Given the description of an element on the screen output the (x, y) to click on. 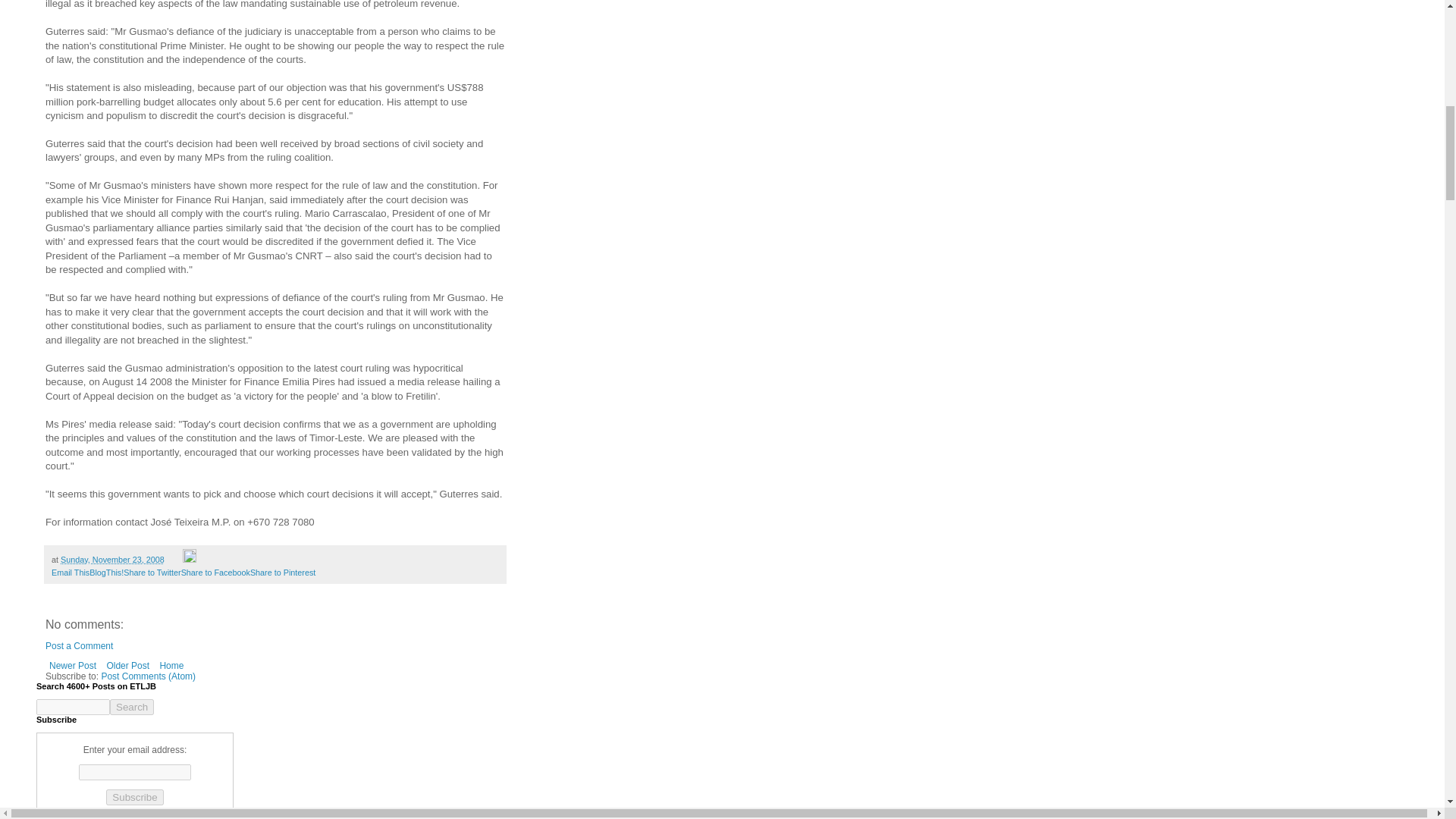
search (132, 706)
Share to Facebook (215, 572)
Search (132, 706)
Share to Pinterest (282, 572)
Search (132, 706)
BlogThis! (105, 572)
Search (132, 706)
Subscribe (134, 797)
Older Post (126, 665)
Email This (69, 572)
search (73, 706)
Sunday, November 23, 2008 (112, 559)
Share to Facebook (215, 572)
BlogThis! (105, 572)
Post a Comment (79, 645)
